Given the description of an element on the screen output the (x, y) to click on. 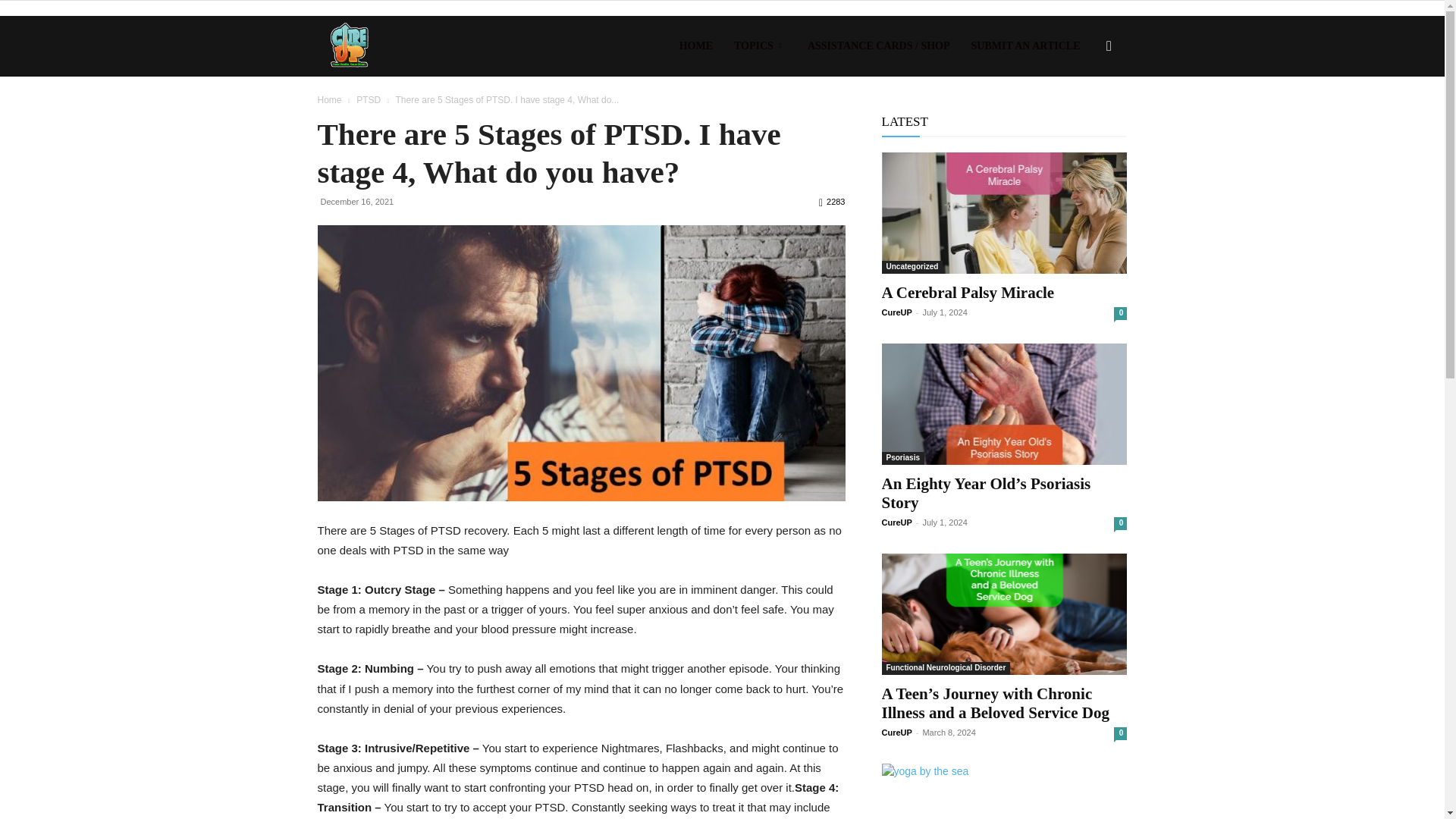
Search (1085, 119)
CureUp (348, 46)
CureUp (348, 46)
SUBMIT AN ARTICLE (1025, 45)
TOPICS (759, 45)
View all posts in PTSD (368, 100)
Home (328, 100)
HOME (695, 45)
PTSD (368, 100)
